Given the description of an element on the screen output the (x, y) to click on. 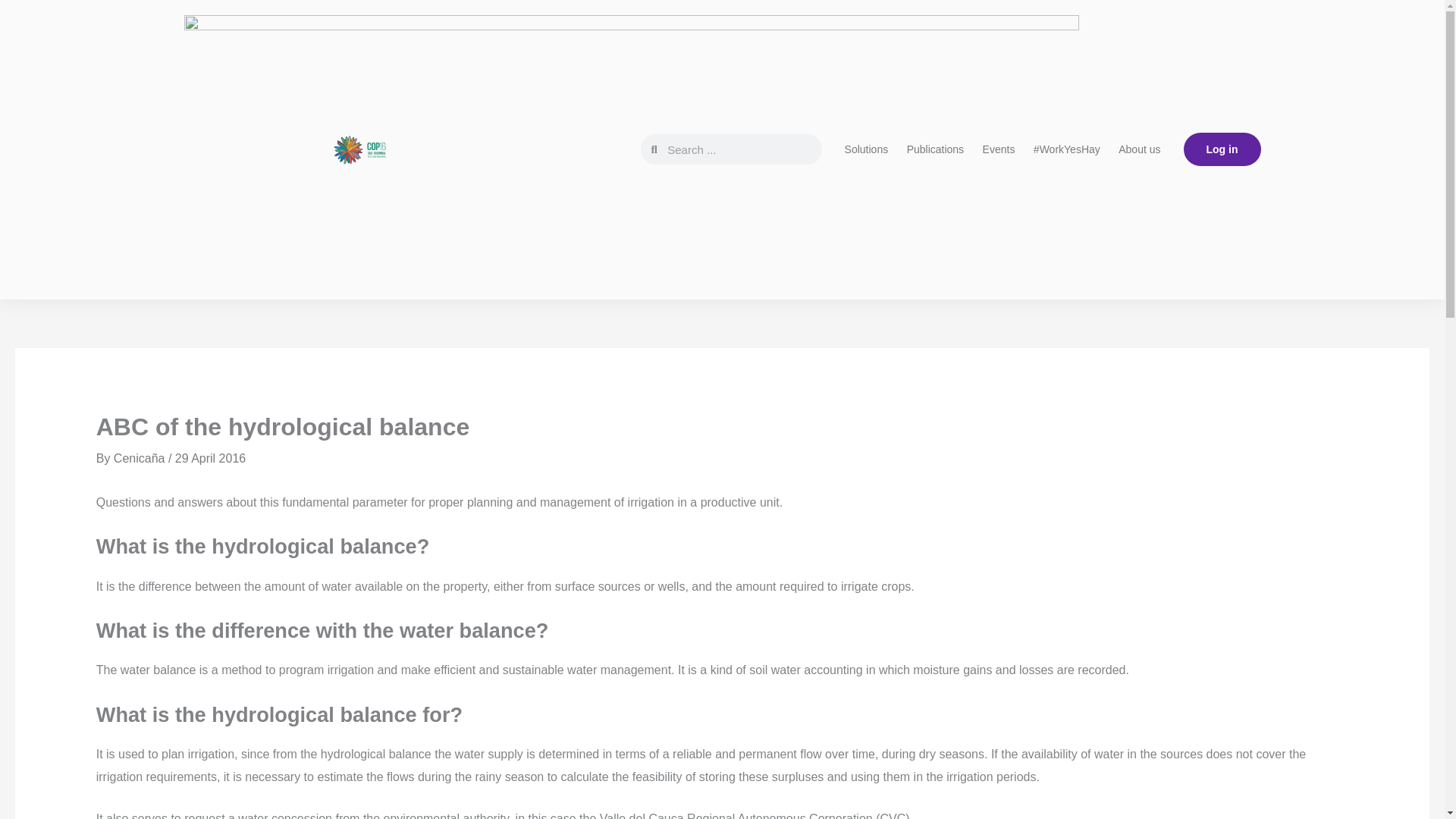
Publications (935, 149)
Solutions (866, 149)
Publications (935, 149)
Events (998, 149)
About us (1139, 149)
Solutions (866, 149)
